Given the description of an element on the screen output the (x, y) to click on. 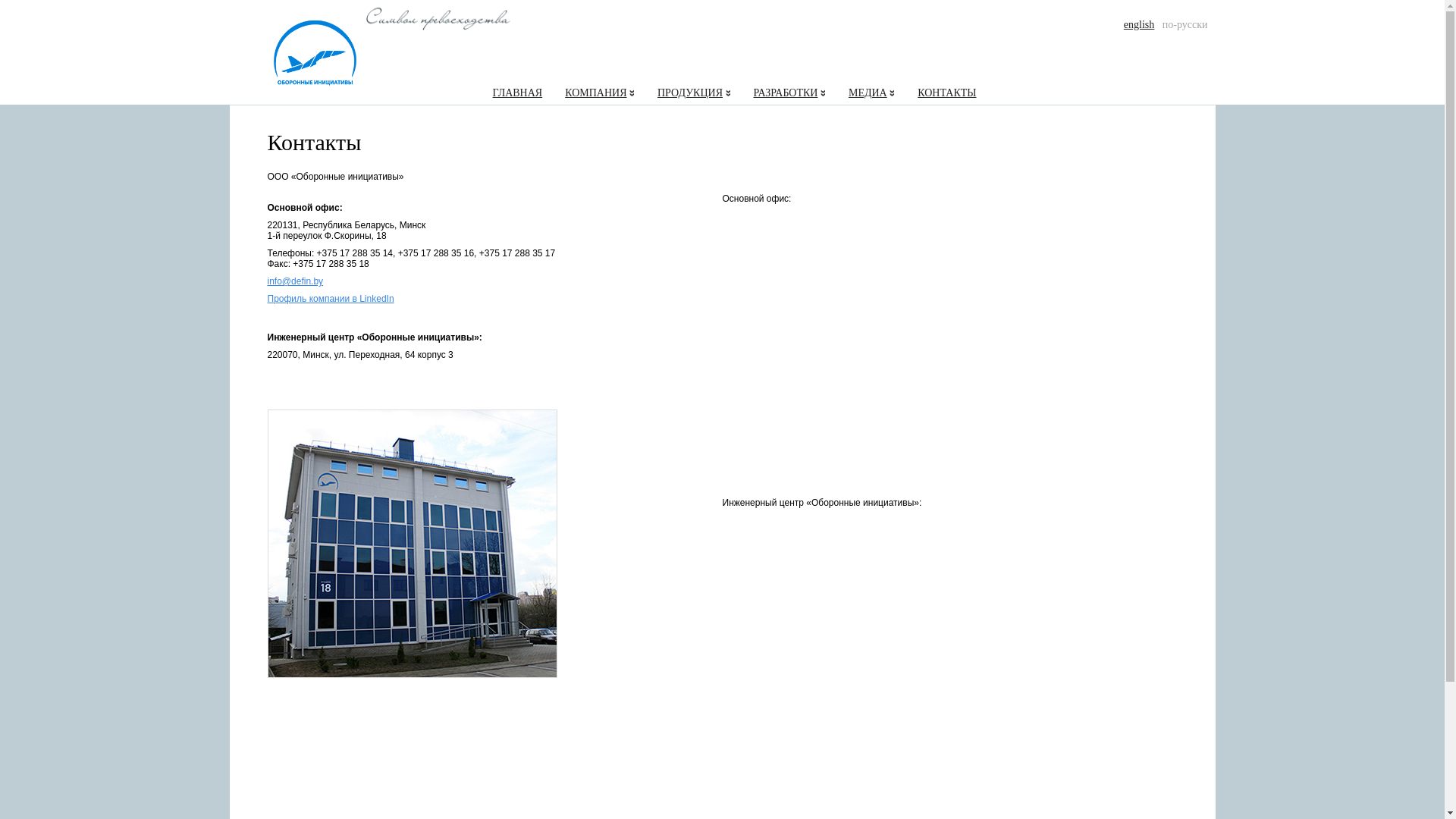
english Element type: text (1138, 24)
info@defin.by Element type: text (294, 281)
